Given the description of an element on the screen output the (x, y) to click on. 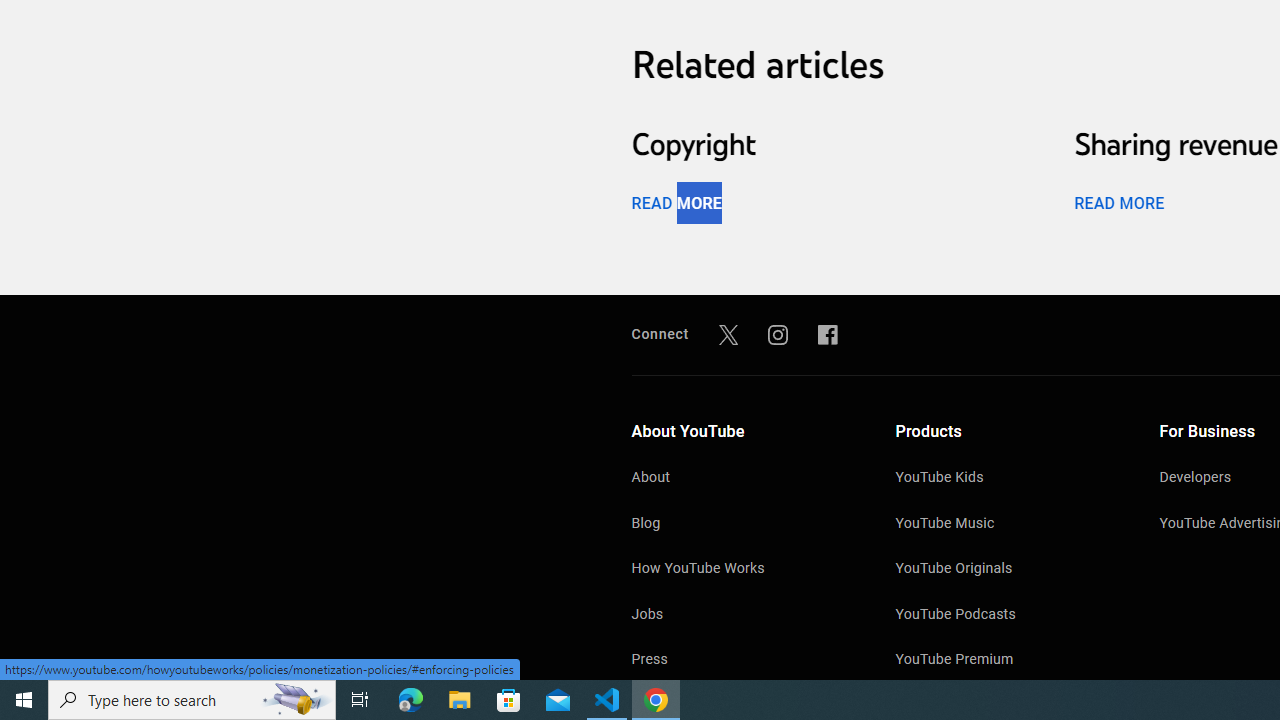
Jobs (743, 616)
